Given the description of an element on the screen output the (x, y) to click on. 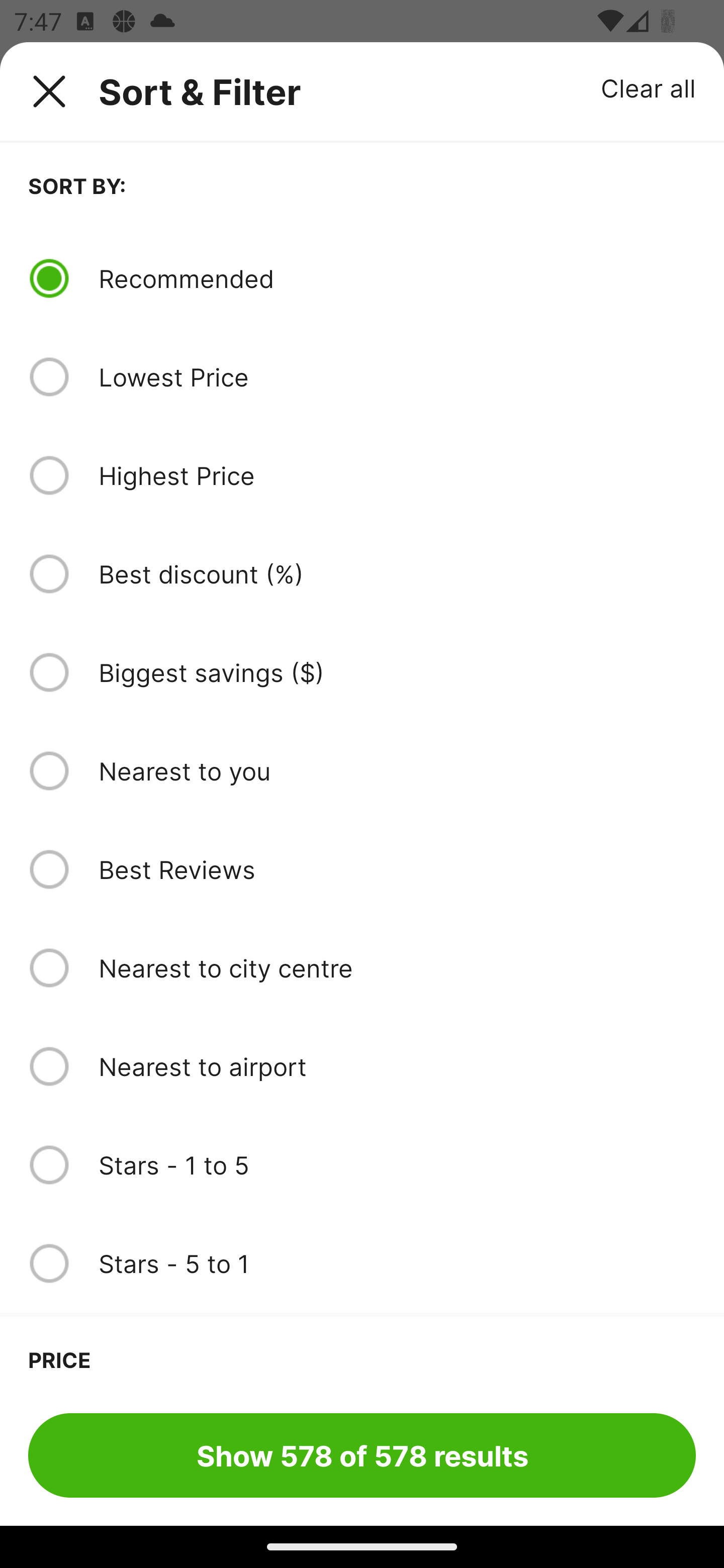
Clear all (648, 87)
Recommended  (396, 278)
Lowest Price (396, 377)
Highest Price (396, 474)
Best discount (%) (396, 573)
Biggest savings ($) (396, 672)
Nearest to you (396, 770)
Best Reviews (396, 869)
Nearest to city centre (396, 968)
Nearest to airport (396, 1065)
Show 578 of 578 results (361, 1454)
